Given the description of an element on the screen output the (x, y) to click on. 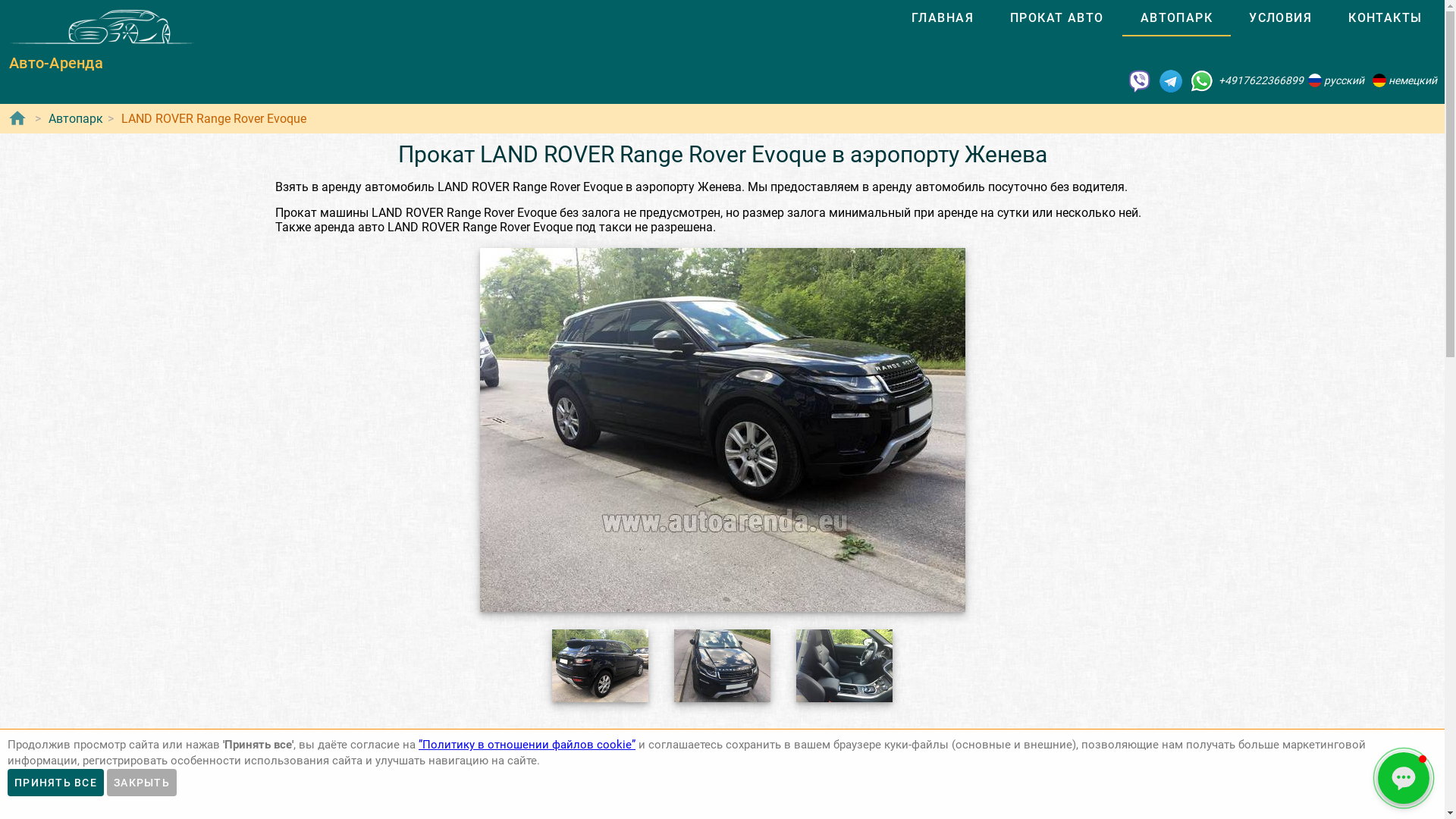
LAND ROVER Range Rover Evoque Element type: text (213, 118)
Viber Element type: hover (1139, 80)
Telegram Element type: hover (1170, 80)
WhatsApp Element type: hover (1201, 80)
